Given the description of an element on the screen output the (x, y) to click on. 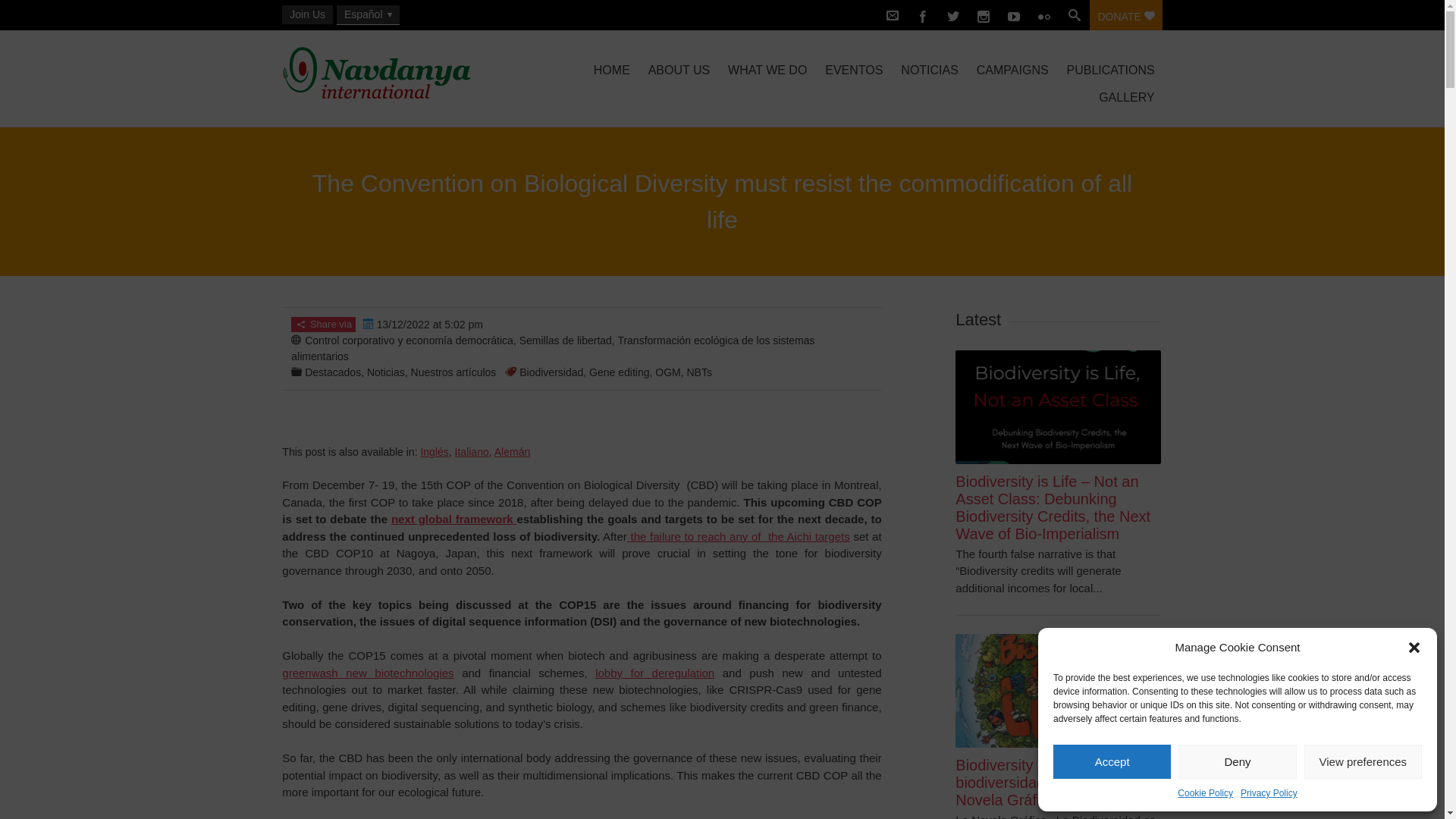
WHAT WE DO (766, 70)
Flickr (1044, 15)
ABOUT US (678, 70)
YouTube (1013, 15)
HOME (611, 70)
Deny (1236, 761)
Facebook (922, 15)
Contact (892, 15)
Accept (1111, 761)
Instagram (983, 15)
Navdanya international -  (413, 72)
Twitter (952, 15)
View preferences (1363, 761)
Join Us (307, 14)
DONATE (1125, 15)
